Given the description of an element on the screen output the (x, y) to click on. 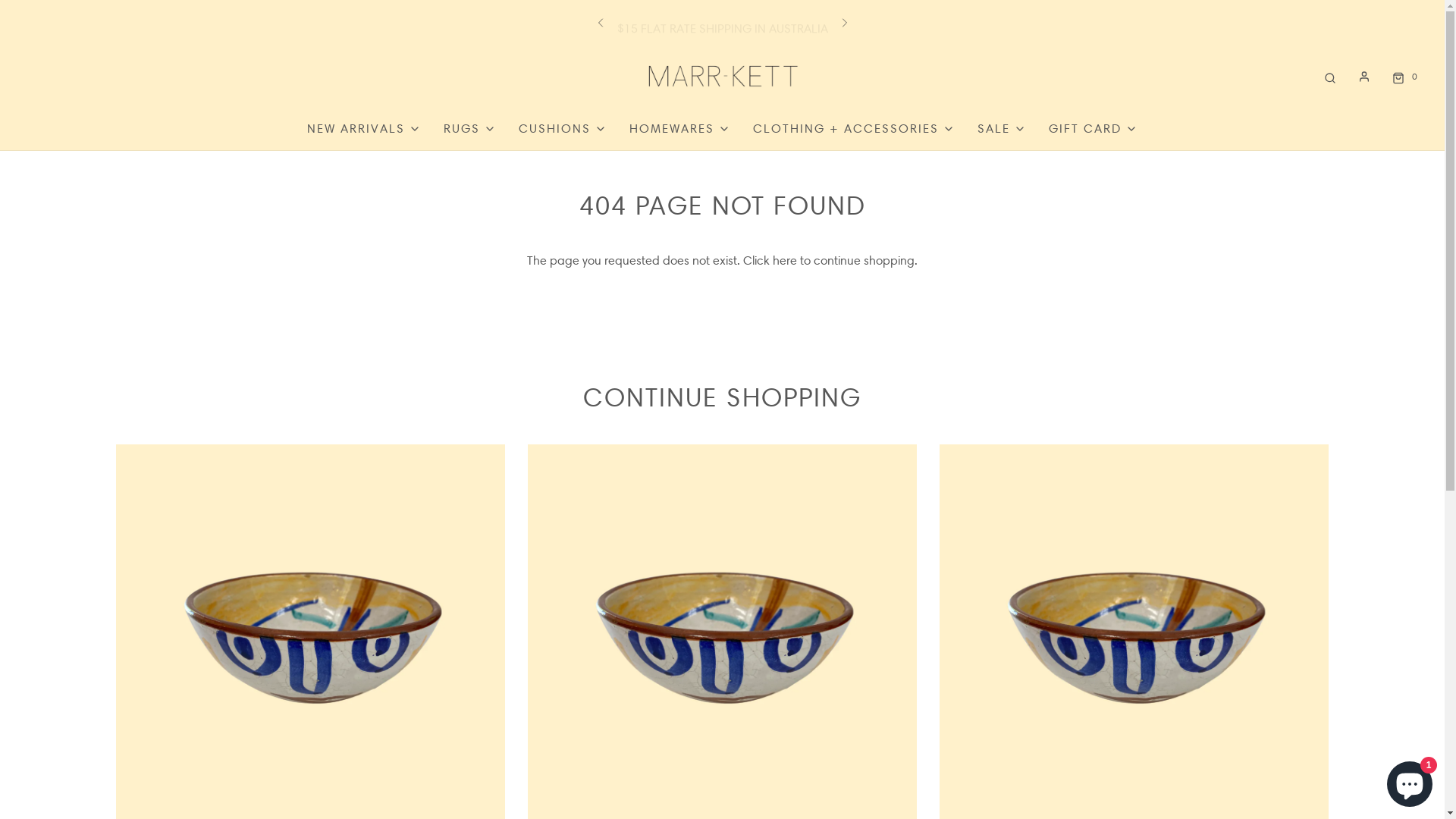
0 Element type: text (1402, 76)
Search Element type: hover (1329, 76)
GIFT CARD Element type: text (1092, 128)
RUGS Element type: text (469, 128)
CUSHIONS Element type: text (562, 128)
here Element type: text (784, 260)
SALE Element type: text (1001, 128)
CLOTHING + ACCESSORIES Element type: text (853, 128)
HOMEWARES Element type: text (679, 128)
NEW ARRIVALS Element type: text (363, 128)
Shopify online store chat Element type: hover (1409, 780)
Log in Element type: hover (1364, 76)
